Given the description of an element on the screen output the (x, y) to click on. 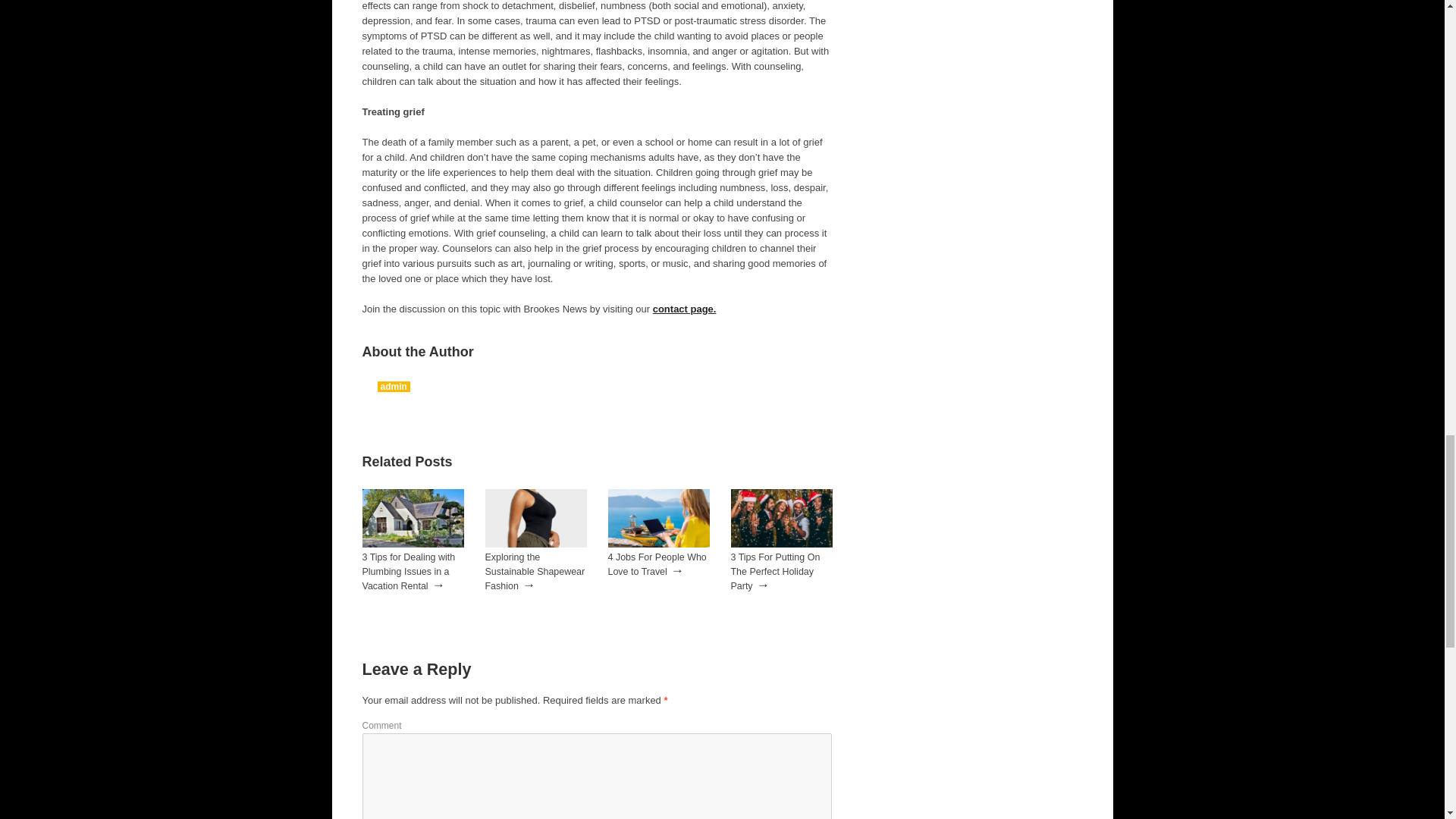
3 Tips for Dealing with Plumbing Issues in a Vacation Rental (413, 543)
3 Tips for Dealing with Plumbing Issues in a Vacation Rental (408, 571)
4 Jobs For People Who Love to Travel (657, 564)
3 Tips For Putting On The Perfect Holiday Party (781, 543)
contact page. (684, 308)
Exploring the Sustainable Shapewear Fashion (534, 571)
3 Tips for Dealing with Plumbing Issues in a Vacation Rental (408, 571)
4 Jobs For People Who Love to Travel (657, 564)
3 Tips For Putting On The Perfect Holiday Party (775, 571)
admin (393, 386)
3 Tips For Putting On The Perfect Holiday Party (775, 571)
Exploring the Sustainable Shapewear Fashion (534, 571)
Exploring the Sustainable Shapewear Fashion (535, 543)
4 Jobs For People Who Love to Travel (659, 543)
Posts by admin (393, 386)
